Given the description of an element on the screen output the (x, y) to click on. 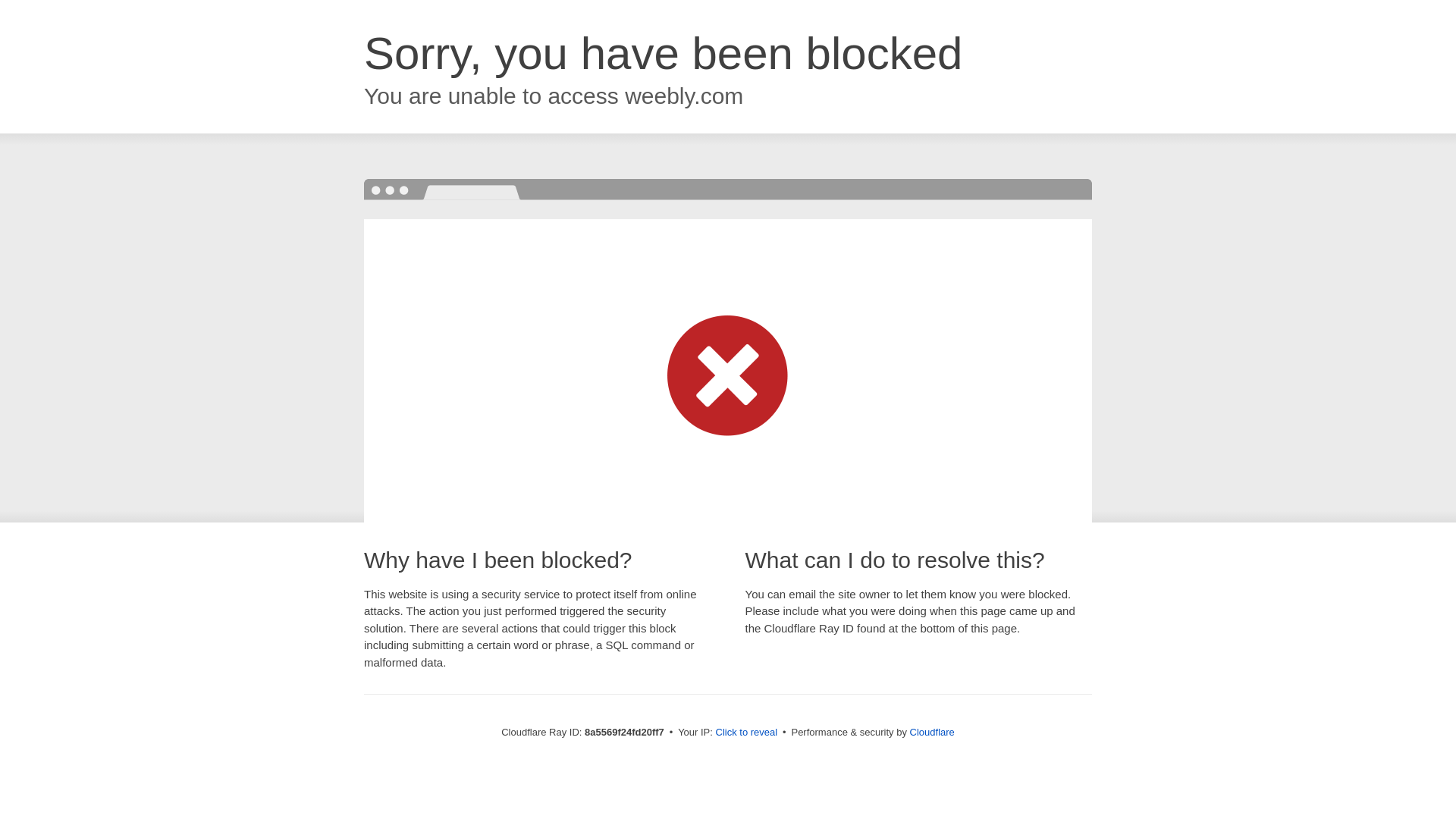
Click to reveal (746, 732)
Cloudflare (932, 731)
